Given the description of an element on the screen output the (x, y) to click on. 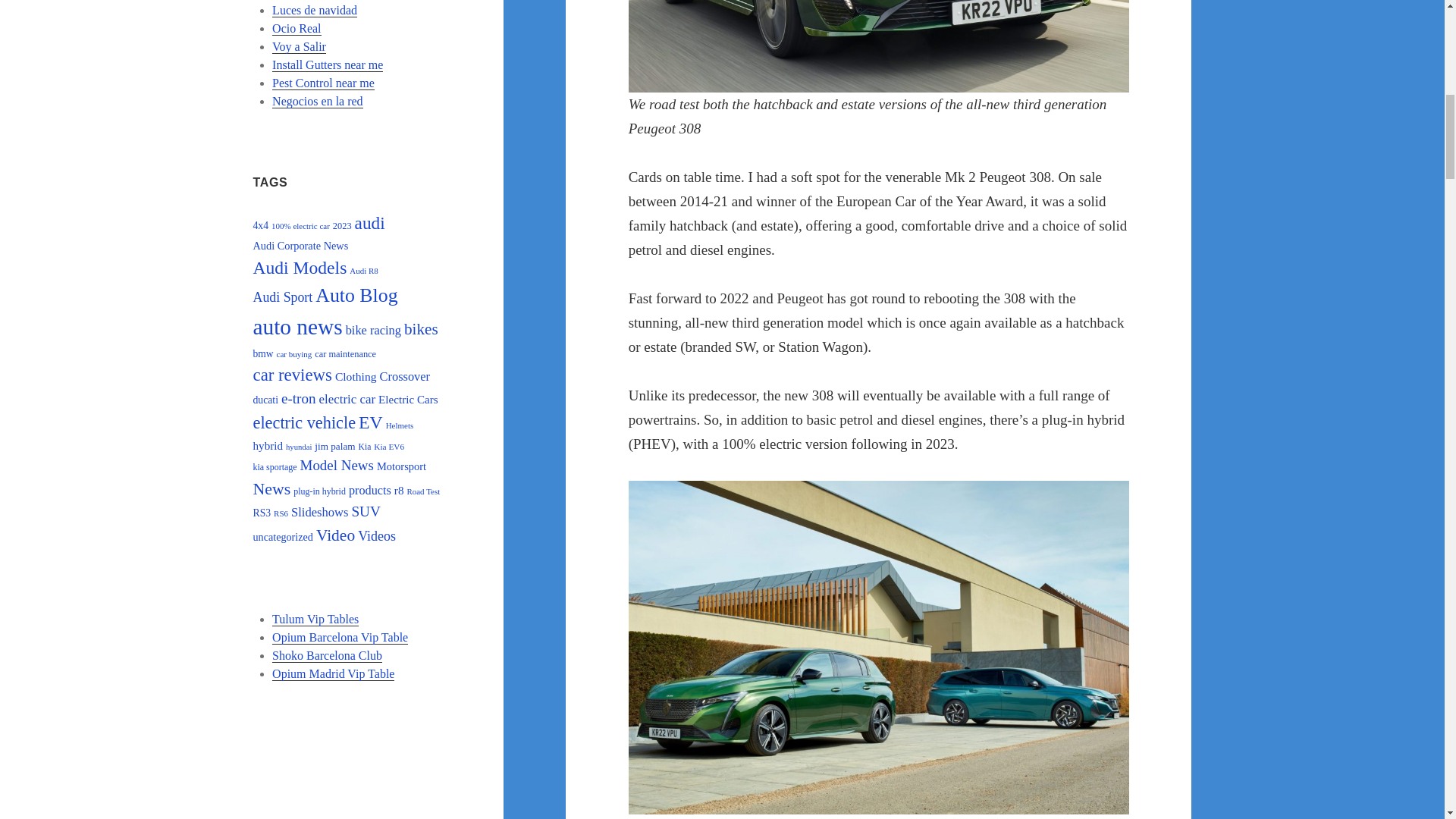
auto news (297, 326)
Audi Corporate News (301, 245)
Electric Cars (408, 399)
Ocio Real (296, 29)
car buying (294, 353)
Voy a Salir (299, 47)
car reviews (292, 374)
Luces de navidad (314, 10)
Auto Blog (356, 295)
audi (370, 222)
